Given the description of an element on the screen output the (x, y) to click on. 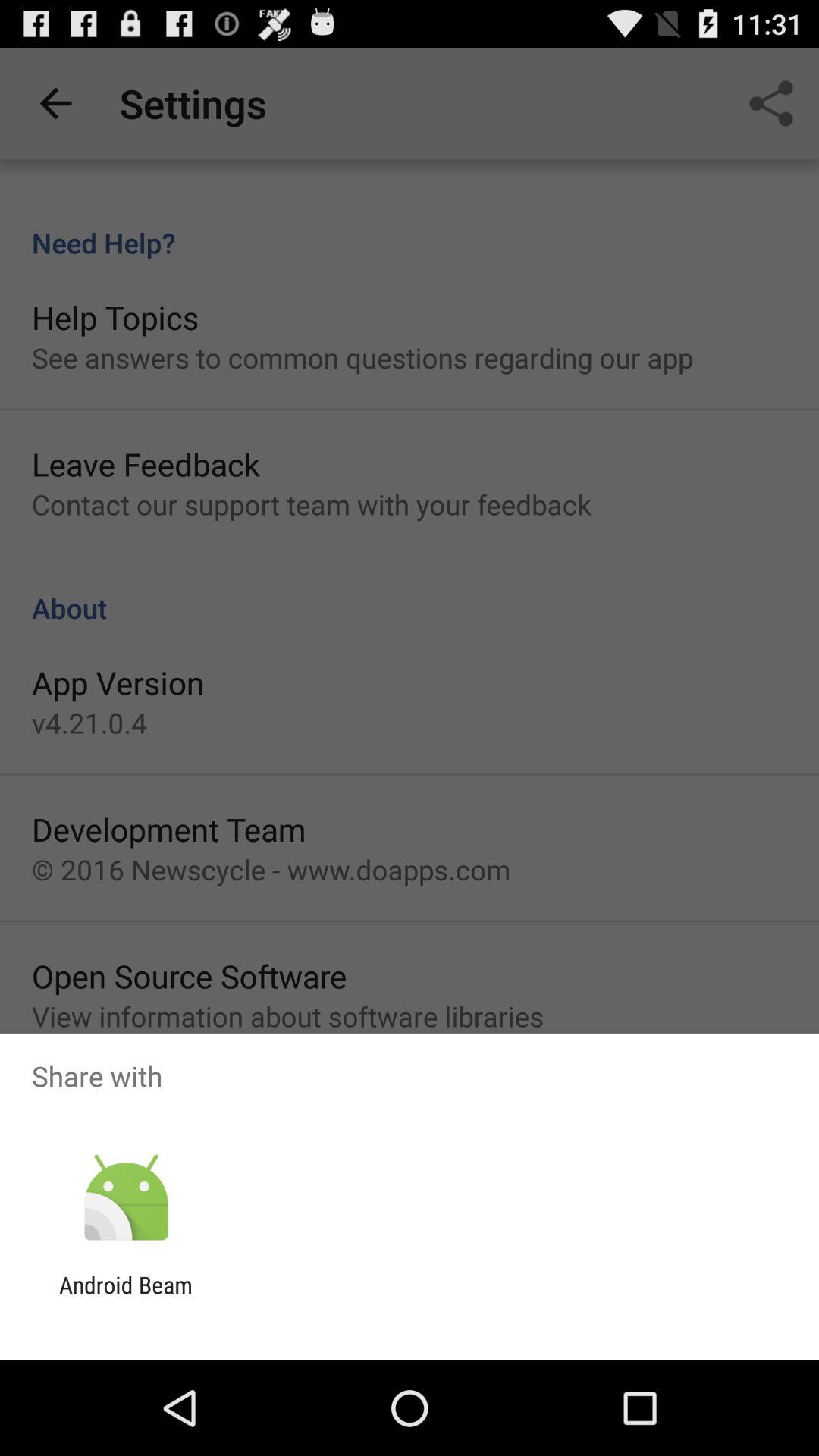
turn on the app above android beam icon (126, 1198)
